Given the description of an element on the screen output the (x, y) to click on. 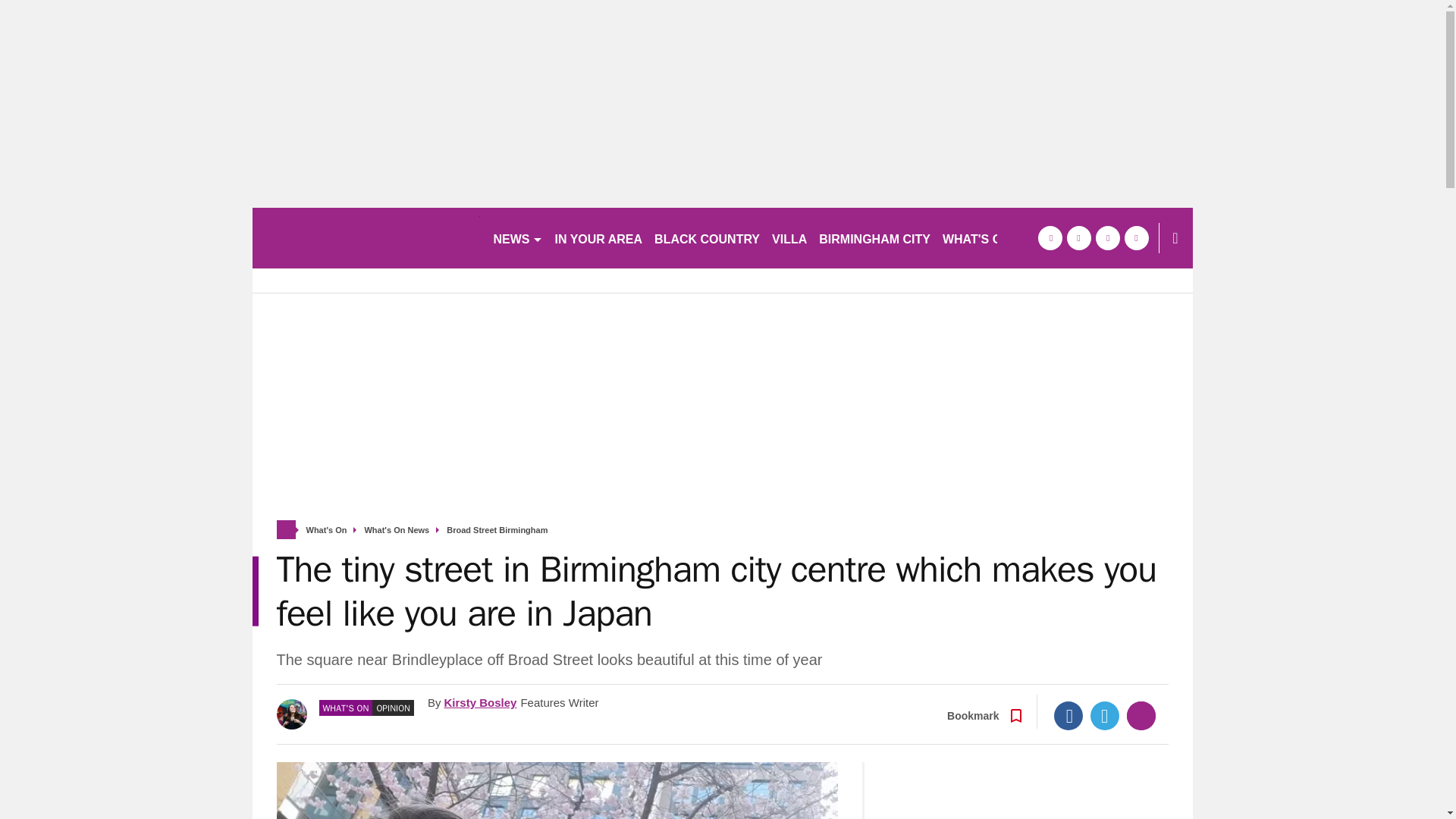
Twitter (1104, 715)
facebook (1048, 238)
Facebook (1068, 715)
BIRMINGHAM CITY (874, 238)
birminghammail (365, 238)
tiktok (1106, 238)
IN YOUR AREA (598, 238)
instagram (1136, 238)
twitter (1077, 238)
NEWS (517, 238)
